Given the description of an element on the screen output the (x, y) to click on. 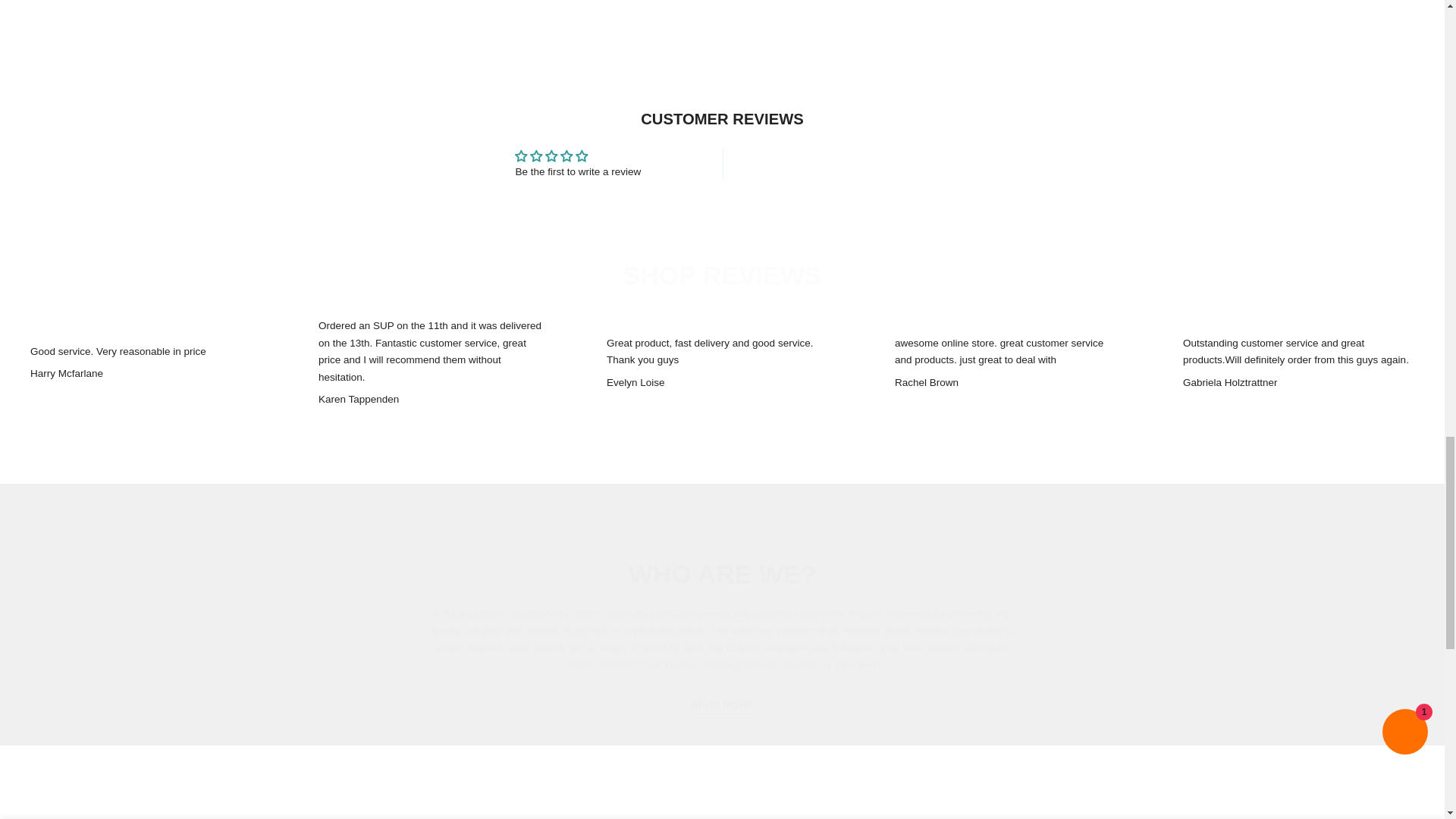
READ MORE (722, 705)
SHOP REVIEWS (722, 275)
WHO ARE WE? (722, 573)
